Given the description of an element on the screen output the (x, y) to click on. 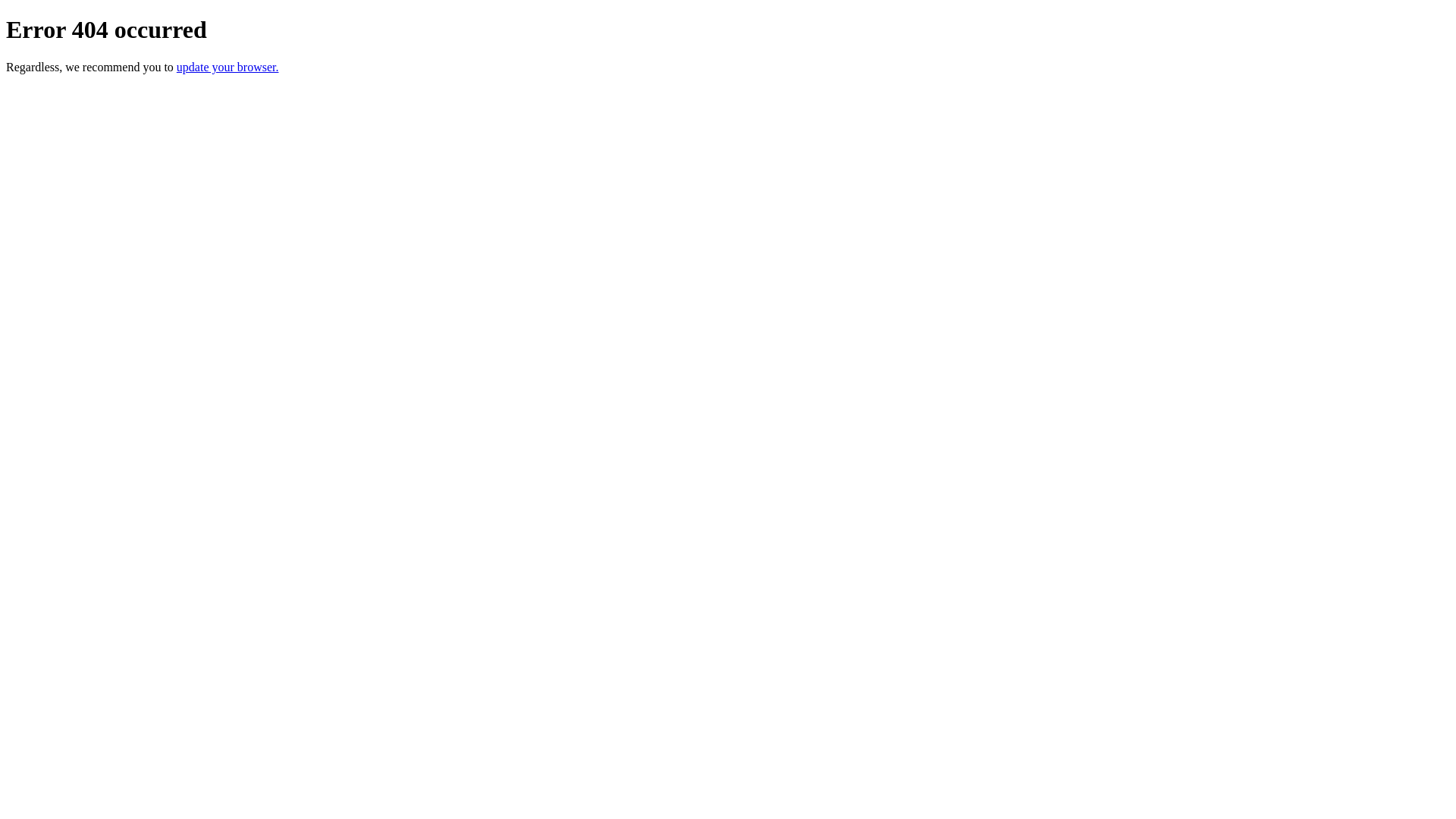
update your browser. Element type: text (227, 66)
